Given the description of an element on the screen output the (x, y) to click on. 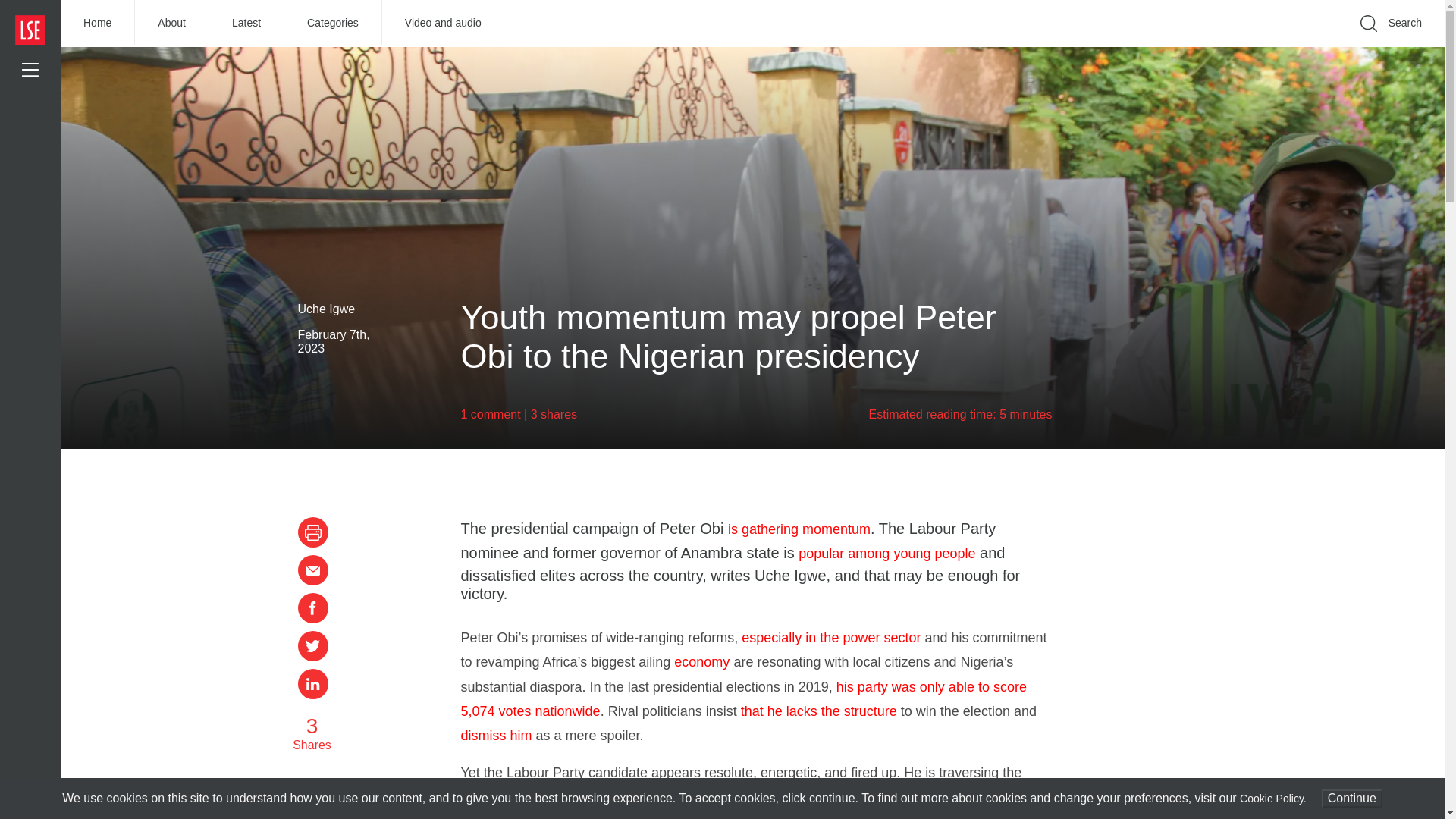
Home (98, 22)
Video and audio (442, 22)
popular among young people (886, 553)
Latest (246, 22)
Go (1190, 44)
Categories (332, 22)
1 comment (491, 413)
character, competence, and compassion (746, 804)
economy (701, 661)
dismiss him (496, 735)
that he lacks the structure (818, 711)
is gathering momentum (799, 529)
prudence and accountability has energised voters across (837, 816)
especially in the power sector (830, 637)
About (172, 22)
